Given the description of an element on the screen output the (x, y) to click on. 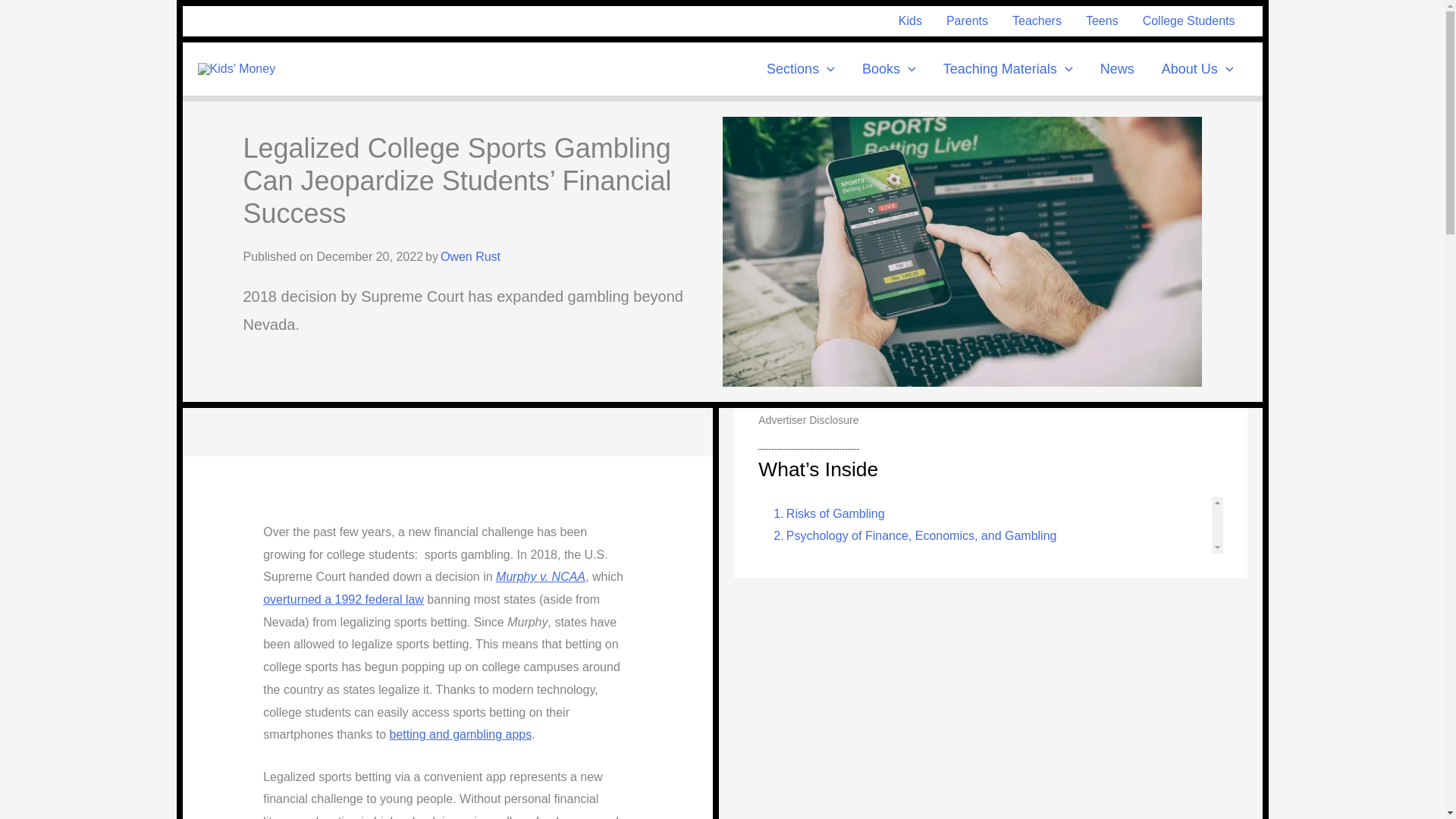
College Students (1189, 20)
Psychology of Finance, Economics, and Gambling (911, 536)
Risks of Gambling (824, 514)
Teachers (1037, 20)
Sections (800, 68)
Teens (1102, 20)
college-kids-gambling (961, 251)
Kids (910, 20)
Parents (967, 20)
